Given the description of an element on the screen output the (x, y) to click on. 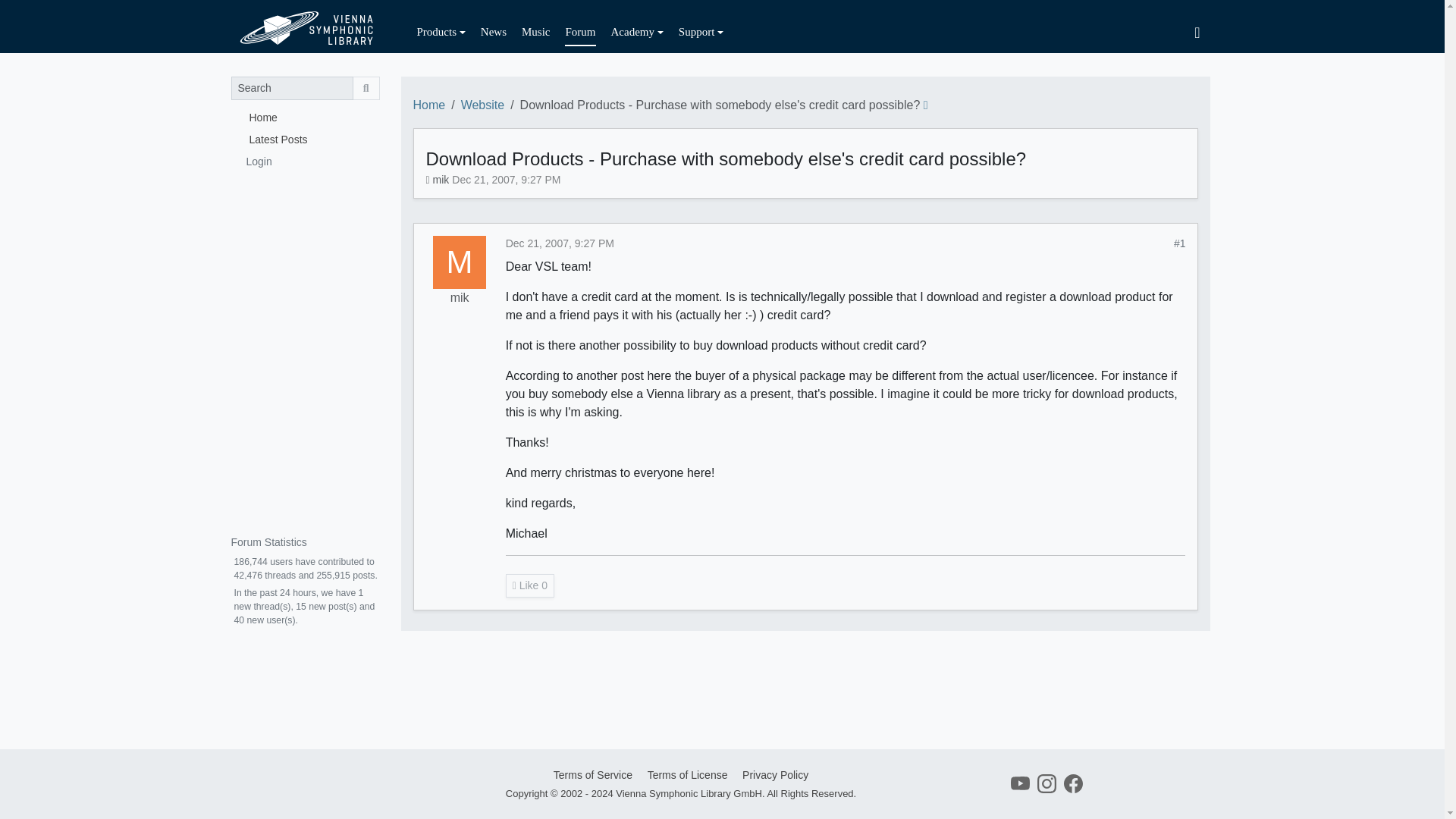
Dec 21, 2007, 9:27 PM (559, 243)
Dec 21, 2007, 9:27 PM (505, 179)
mik (459, 262)
News (493, 32)
mik (458, 298)
mik (440, 179)
Forum (579, 32)
Products (441, 32)
Latest Posts (304, 138)
Academy (637, 32)
Music (535, 32)
